Given the description of an element on the screen output the (x, y) to click on. 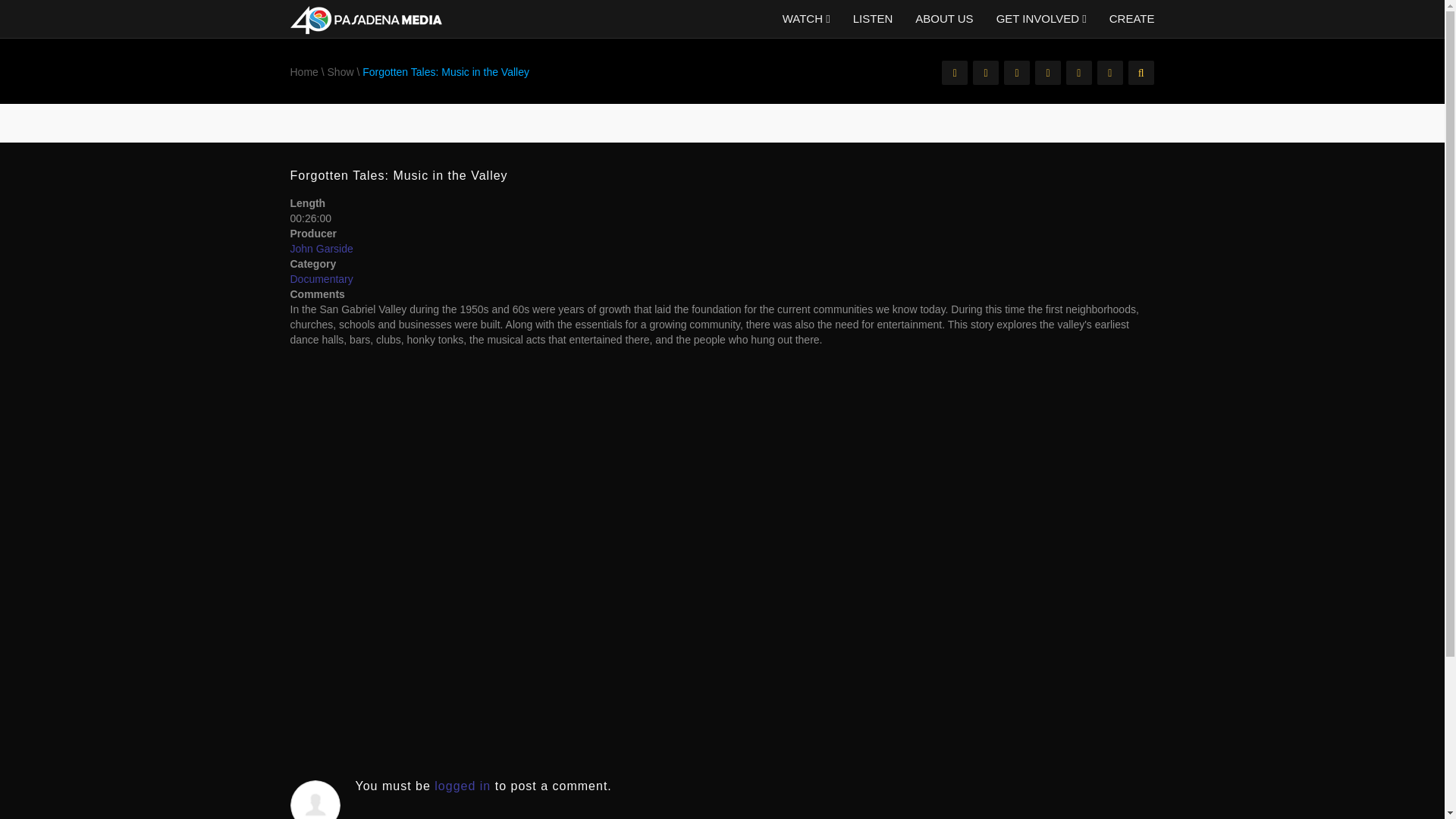
Forgotten Tales: Music in the Valley - Pasadena Media (365, 19)
CREATE (1125, 18)
Show (340, 71)
Home (303, 71)
GET INVOLVED (1041, 18)
LISTEN (872, 18)
WATCH (806, 18)
ABOUT US (944, 18)
